Given the description of an element on the screen output the (x, y) to click on. 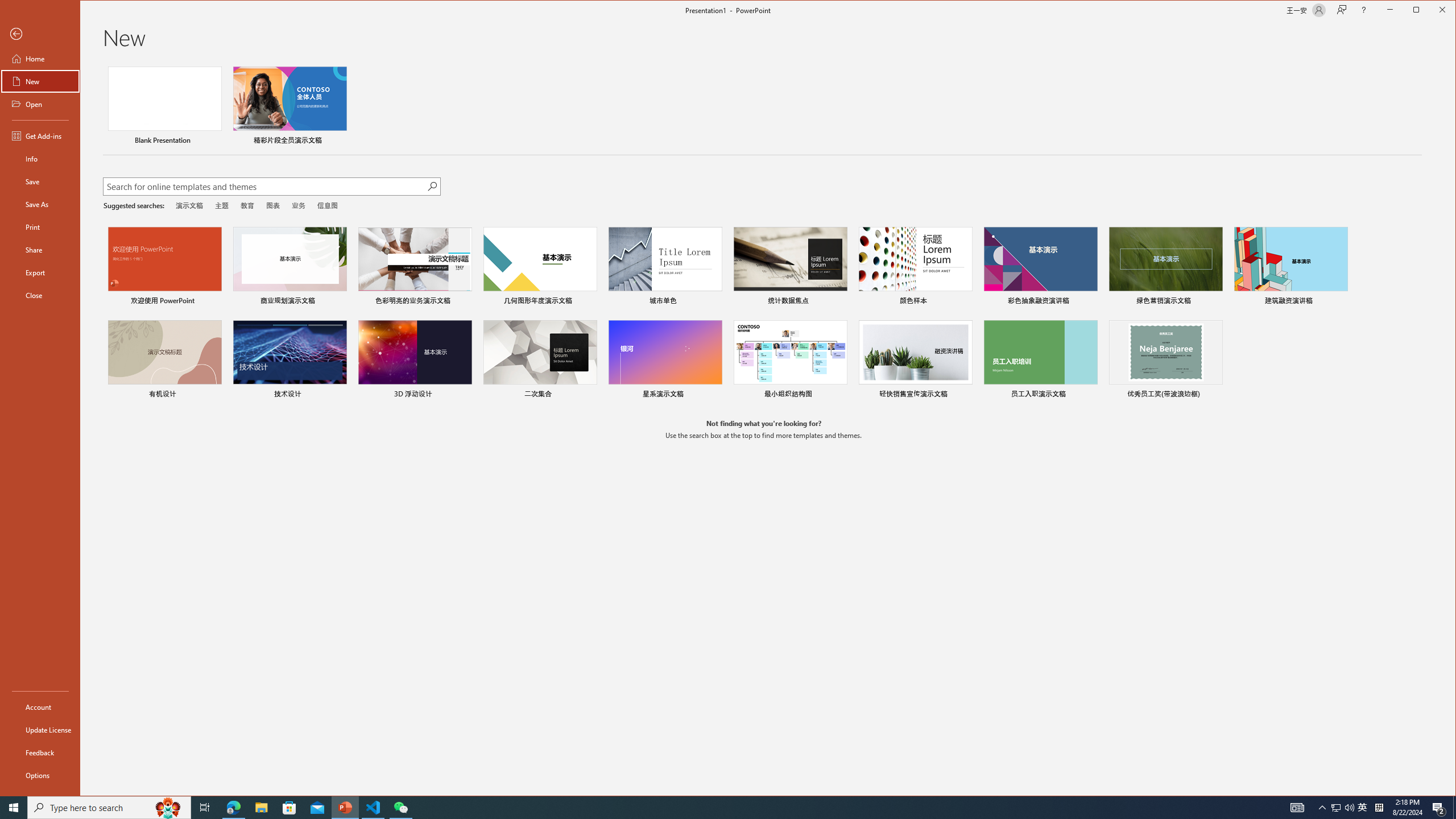
Options (40, 775)
Export (40, 272)
